Given the description of an element on the screen output the (x, y) to click on. 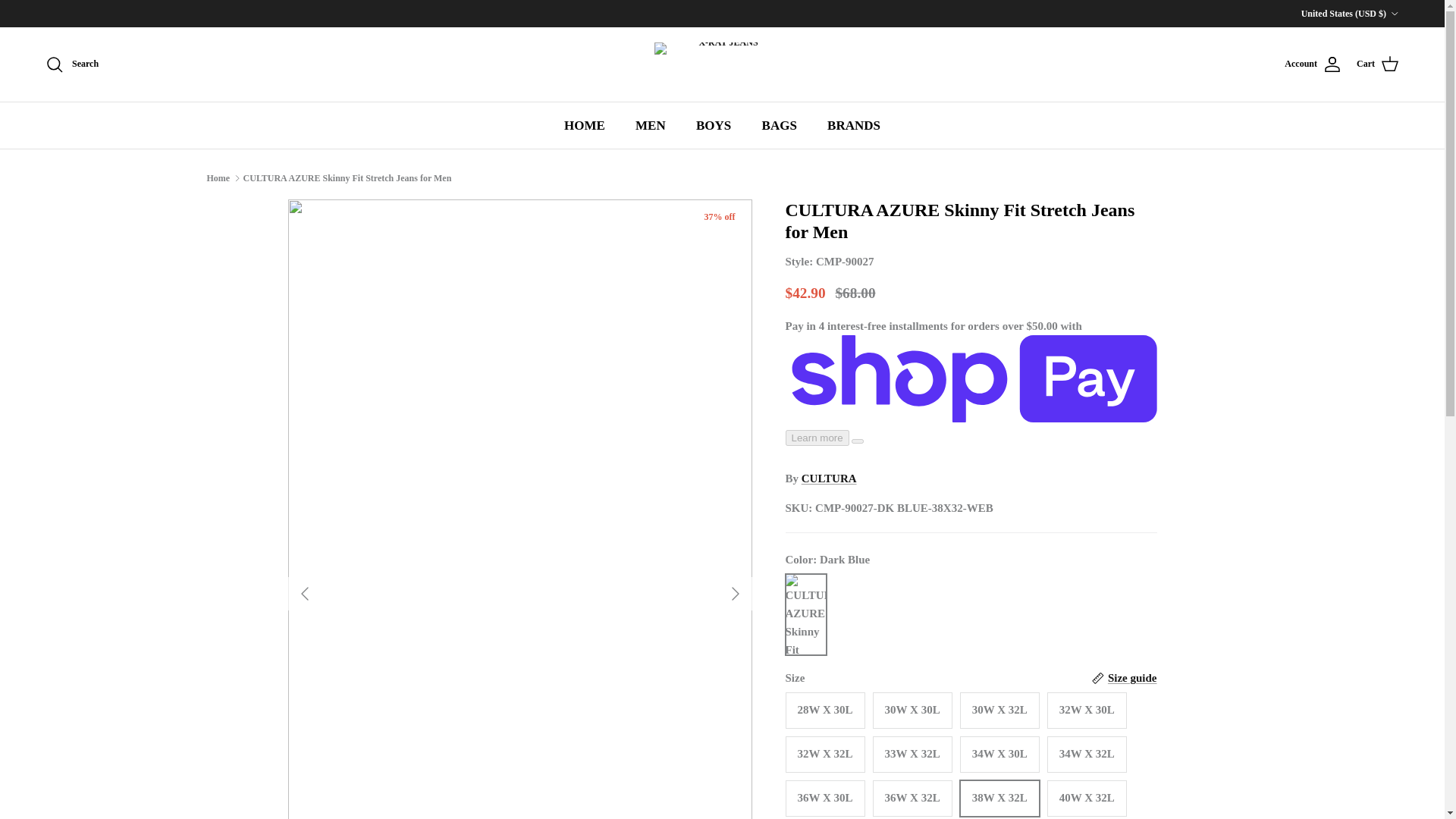
BOYS (713, 125)
Cart (1377, 64)
Account (1312, 64)
BAGS (779, 125)
BRANDS (853, 125)
HOME (584, 125)
Search (72, 64)
X-RAY JEANS (721, 64)
MEN (650, 125)
